Given the description of an element on the screen output the (x, y) to click on. 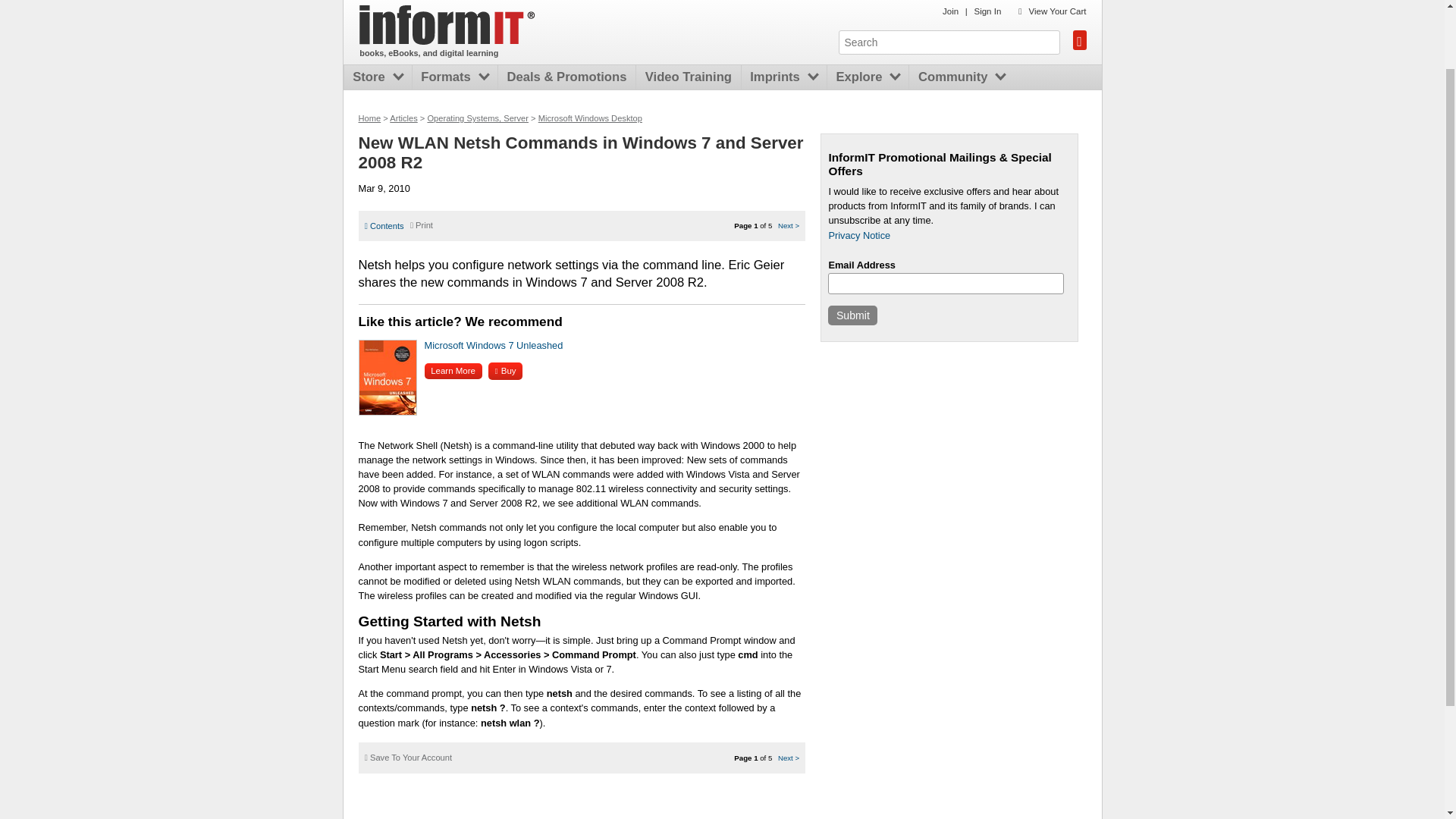
Microsoft Windows 7 Unleashed (494, 345)
View Your Cart (1057, 10)
Articles (403, 117)
Home (446, 24)
Learn More (453, 371)
Join (950, 10)
Submit (852, 315)
Print (421, 225)
Privacy Notice (858, 235)
Microsoft Windows Desktop (590, 117)
